Given the description of an element on the screen output the (x, y) to click on. 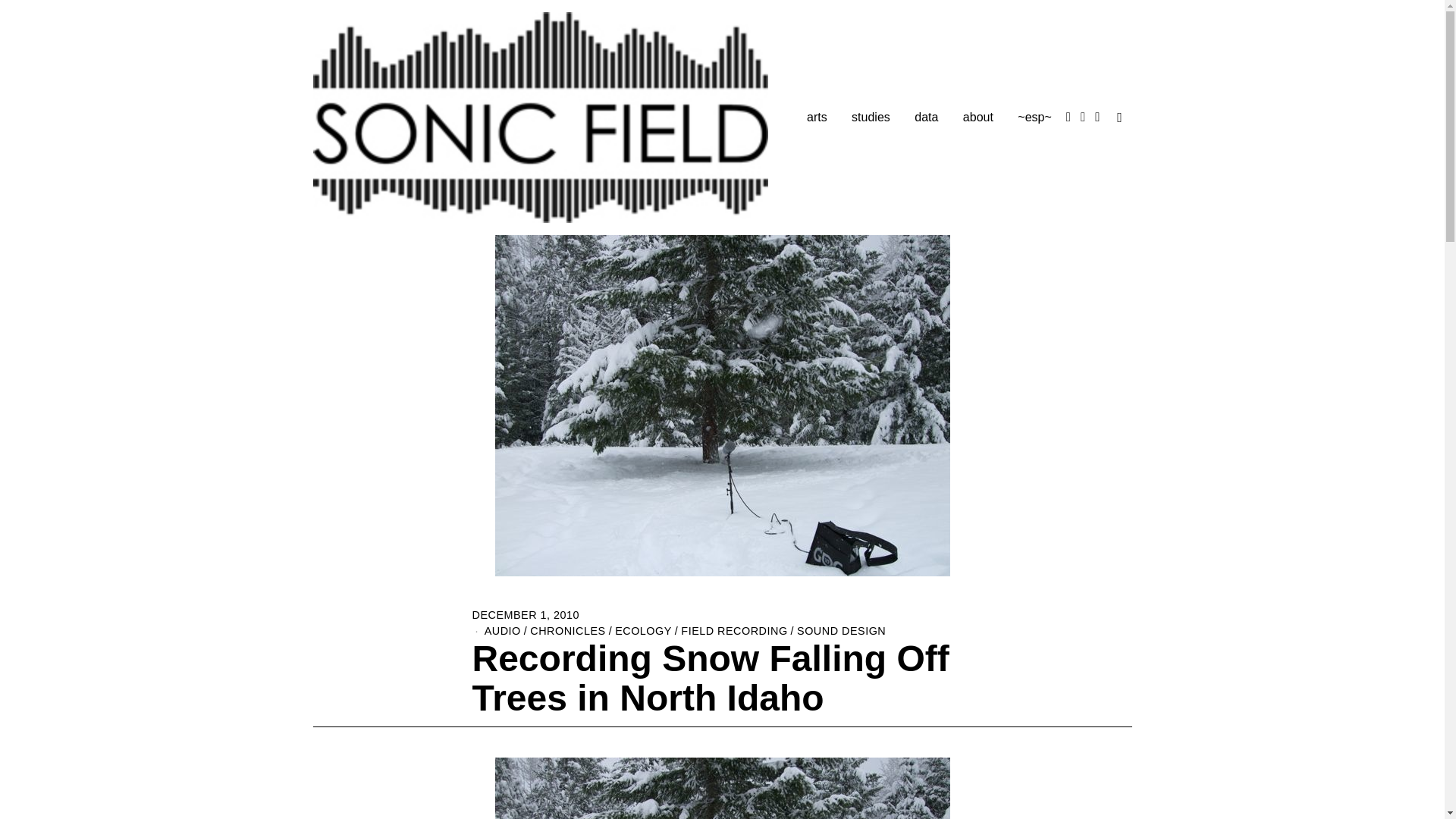
data (926, 117)
arts (817, 117)
about (978, 117)
AUDIO (502, 630)
CHRONICLES (567, 630)
studies (871, 117)
